Given the description of an element on the screen output the (x, y) to click on. 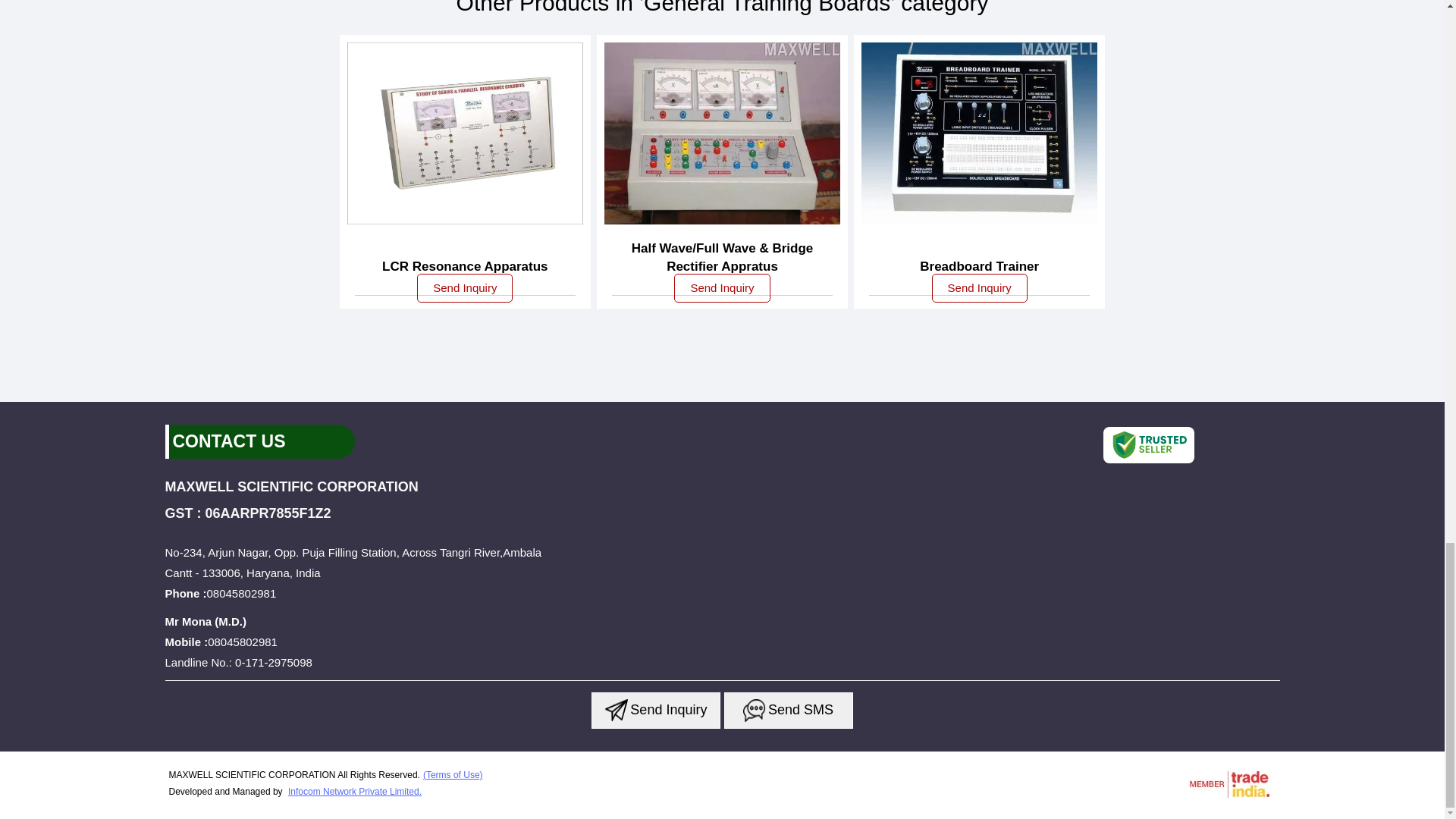
LCR Resonance Apparatus (464, 266)
Breadboard Trainer (979, 266)
Send Inquiry (722, 287)
Send Inquiry (464, 287)
Send Inquiry (616, 710)
Send Inquiry (979, 287)
Send Inquiry (753, 710)
